Given the description of an element on the screen output the (x, y) to click on. 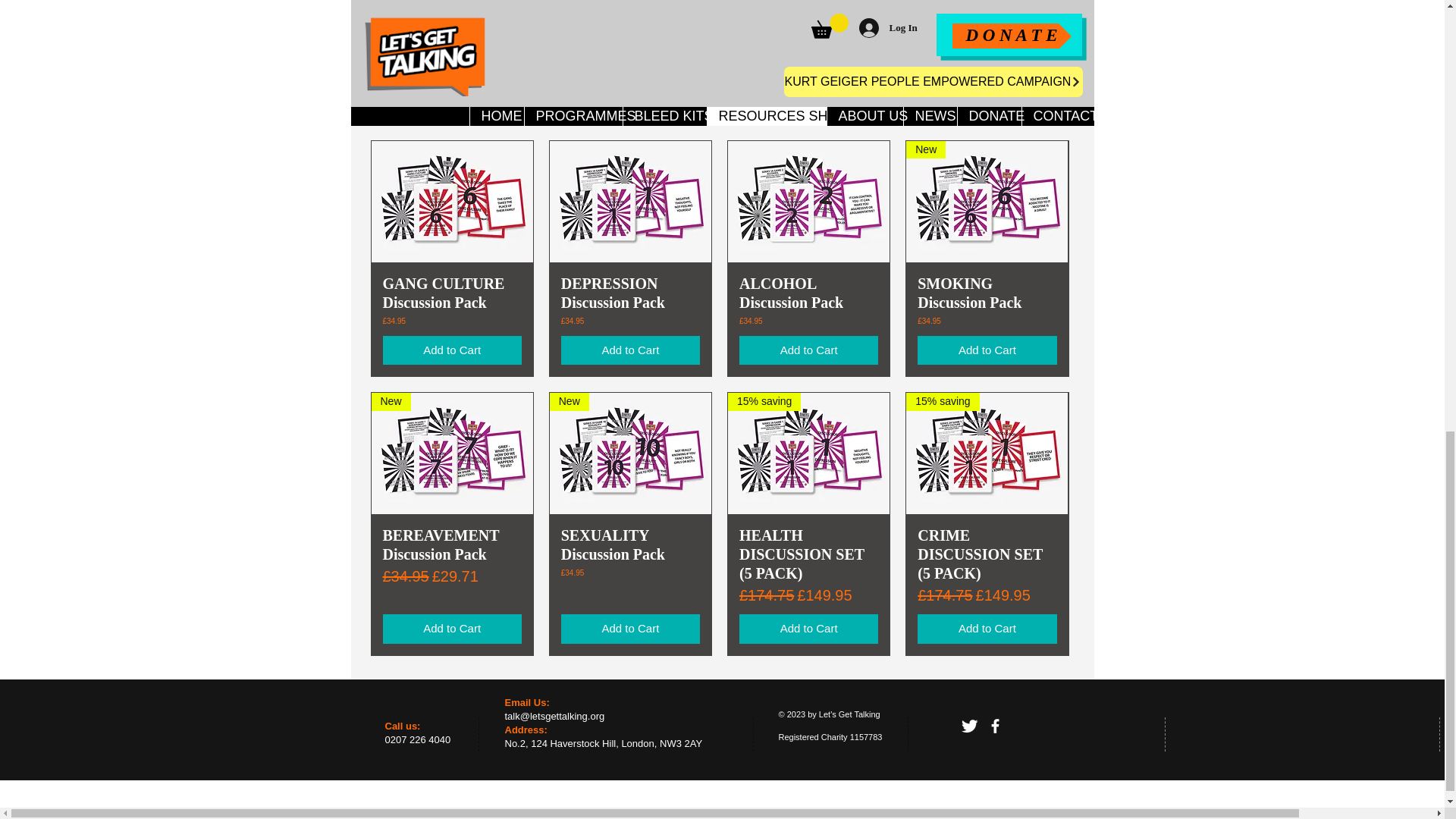
Add to Cart (630, 98)
Add to Cart (987, 98)
Add to Cart (451, 98)
New (986, 201)
Add to Cart (451, 350)
Add to Cart (630, 350)
Add to Cart (808, 98)
Add to Cart (808, 350)
